Given the description of an element on the screen output the (x, y) to click on. 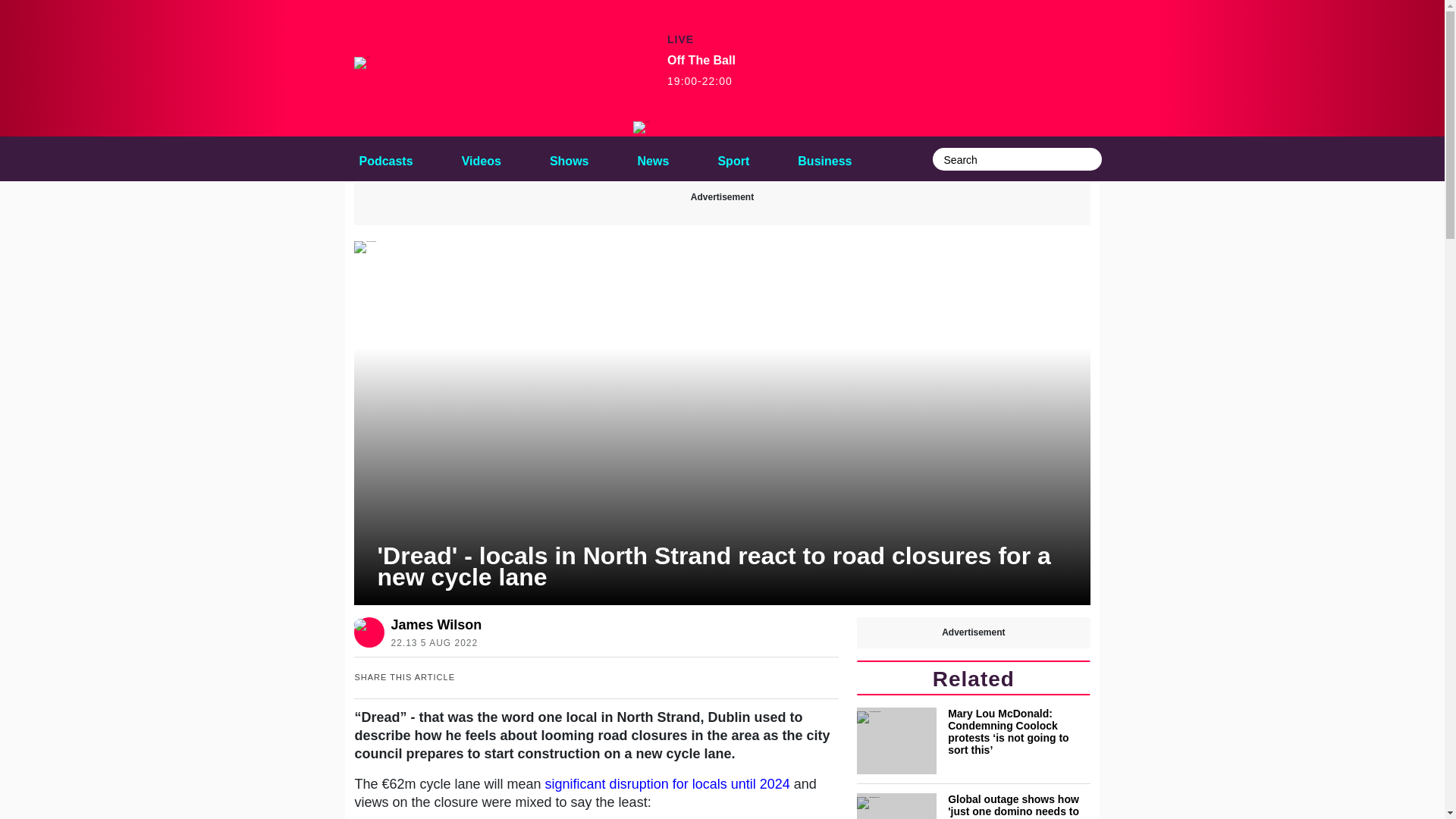
Shows (569, 158)
James Wilson (700, 70)
News (435, 624)
Videos (653, 158)
News (481, 158)
Business (653, 158)
Sport (824, 158)
significant disruption for locals until 2024 (733, 158)
Podcasts (667, 783)
Business (384, 158)
Videos (824, 158)
Shows (481, 158)
